Given the description of an element on the screen output the (x, y) to click on. 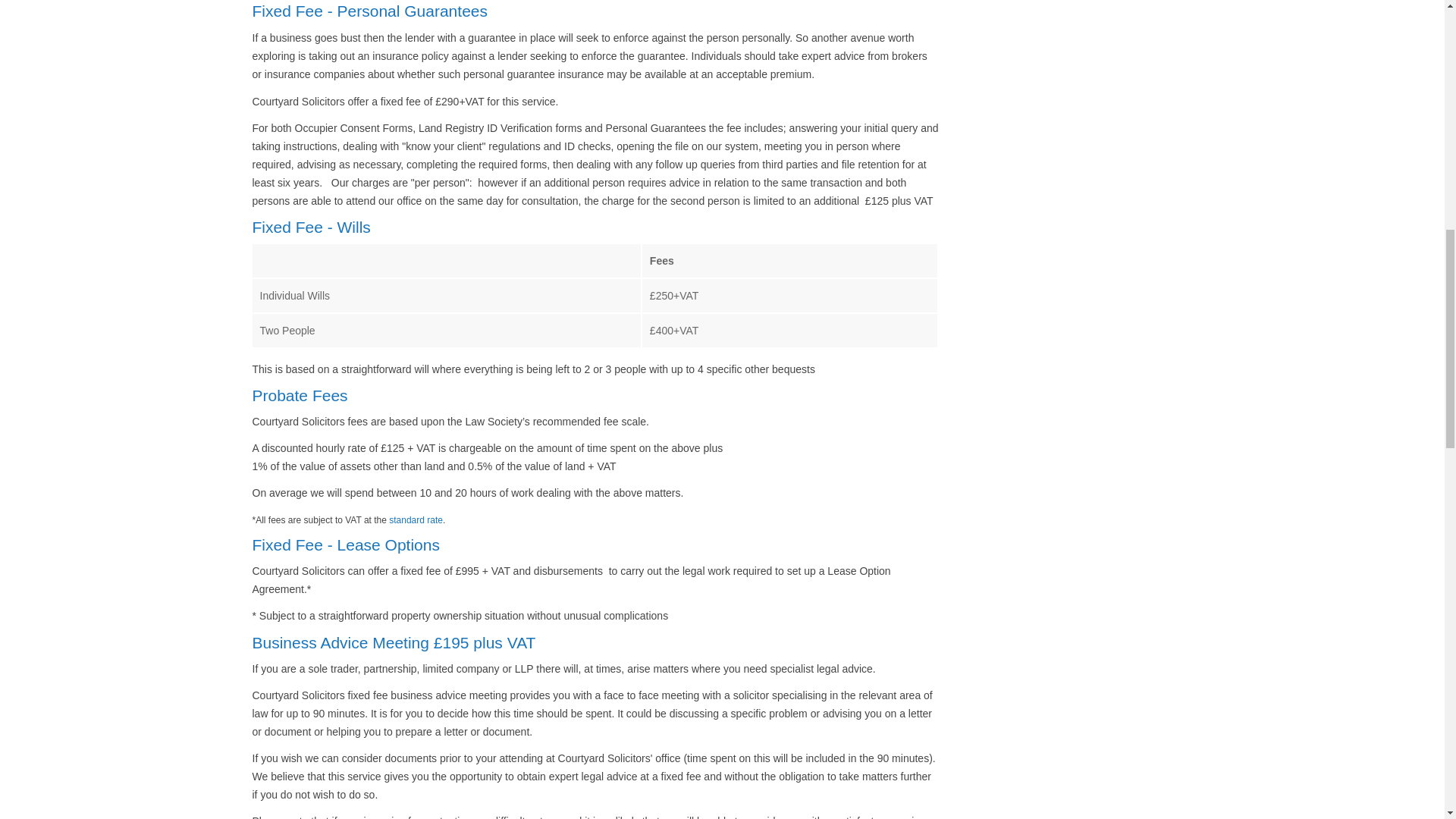
Fixed Fee - Personal Guarantees (369, 10)
Fixed Fee - Wills (310, 226)
 Fees (327, 395)
Probate (279, 395)
